Given the description of an element on the screen output the (x, y) to click on. 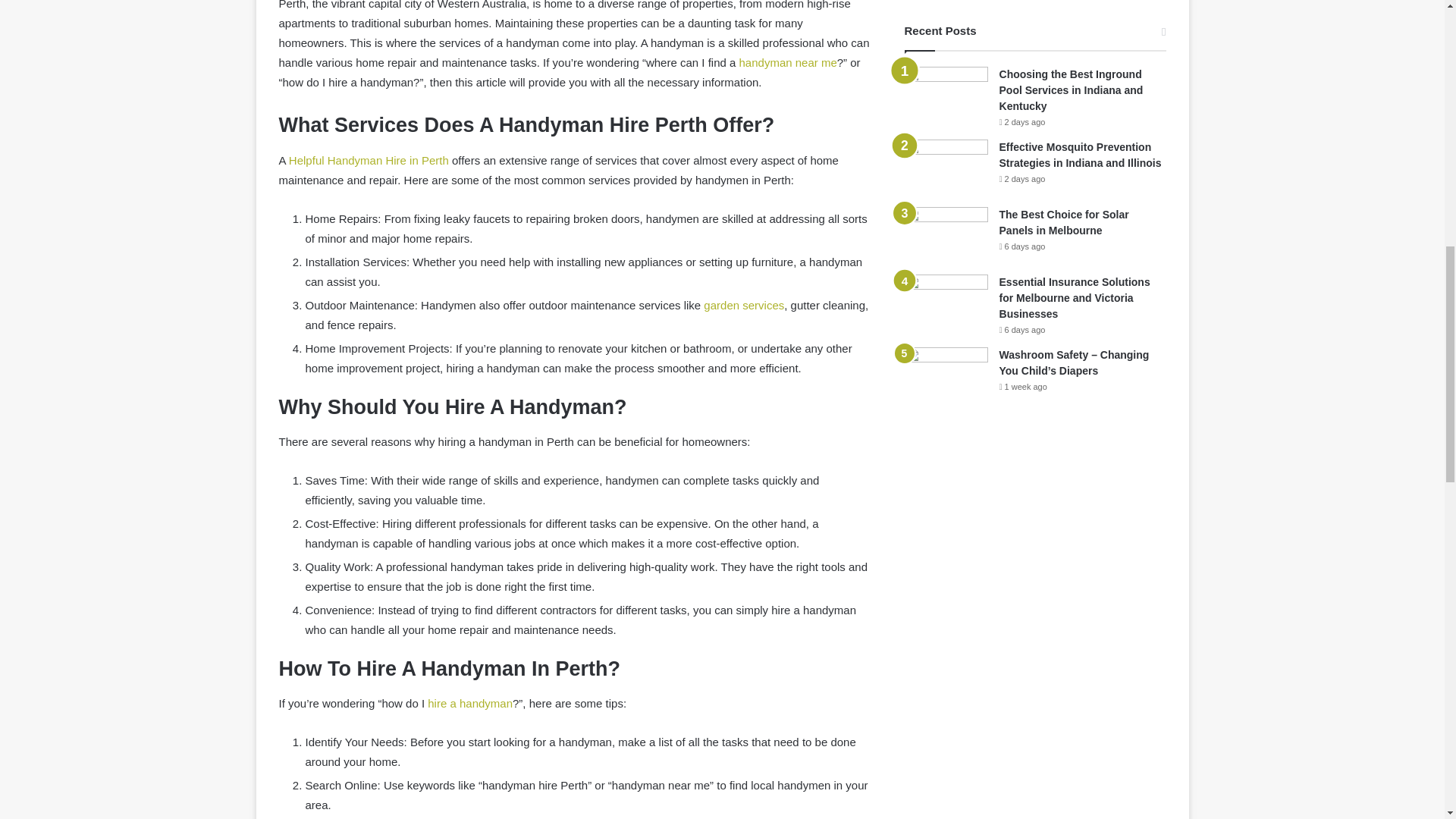
hire a handyman (470, 703)
handyman near me (788, 62)
garden services (743, 305)
Helpful Handyman Hire in Perth (368, 160)
